Given the description of an element on the screen output the (x, y) to click on. 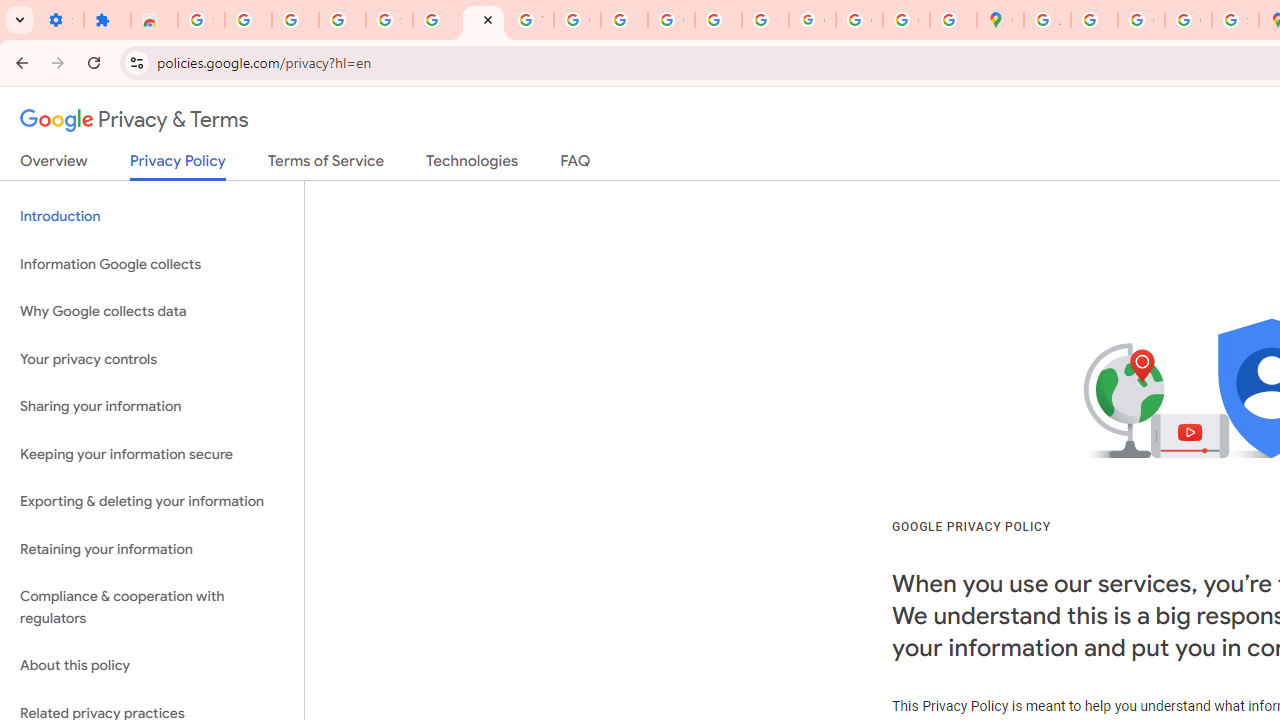
Settings - On startup (60, 20)
Google Maps (999, 20)
